Given the description of an element on the screen output the (x, y) to click on. 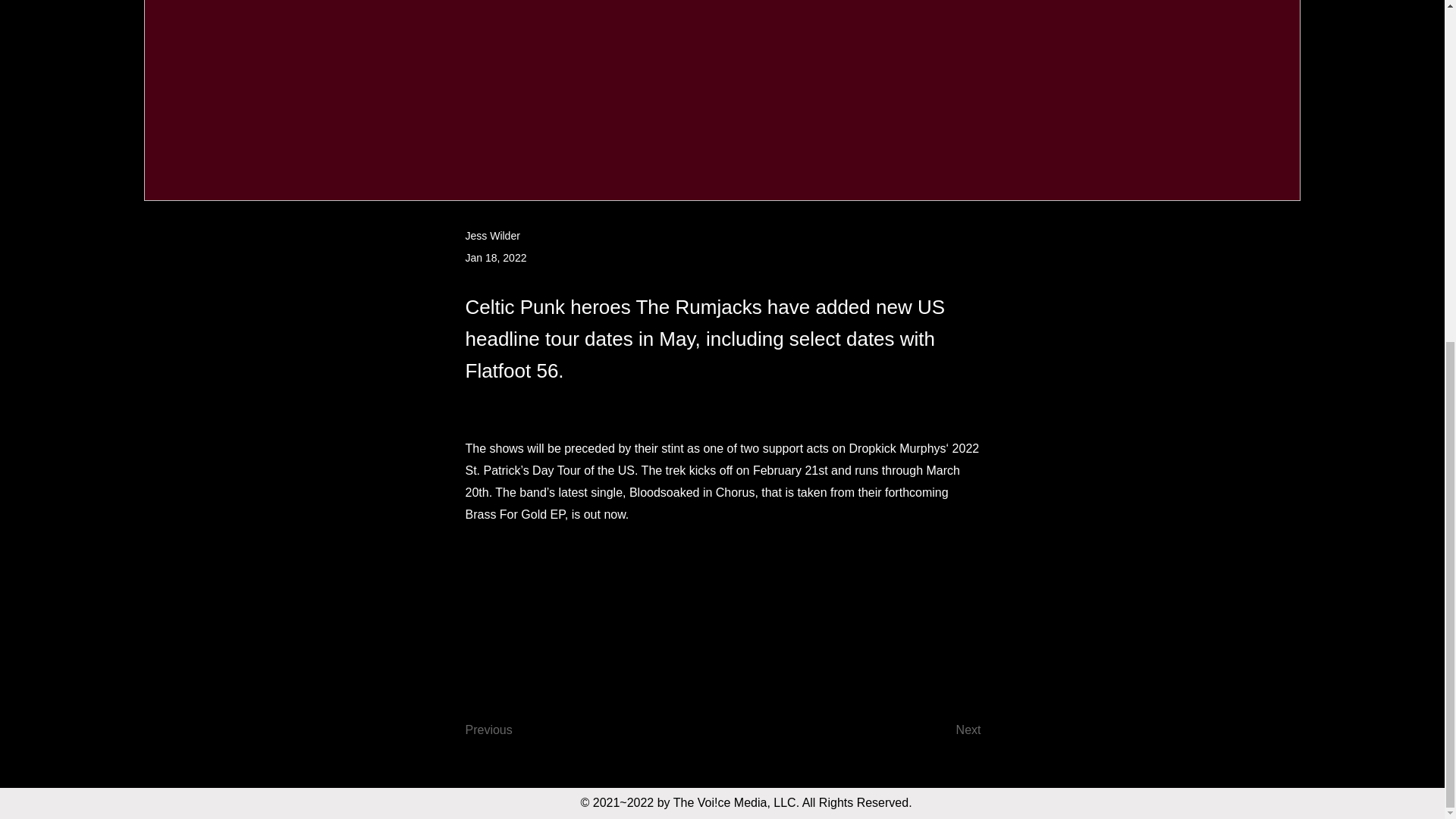
Previous (515, 729)
Next (943, 729)
